Given the description of an element on the screen output the (x, y) to click on. 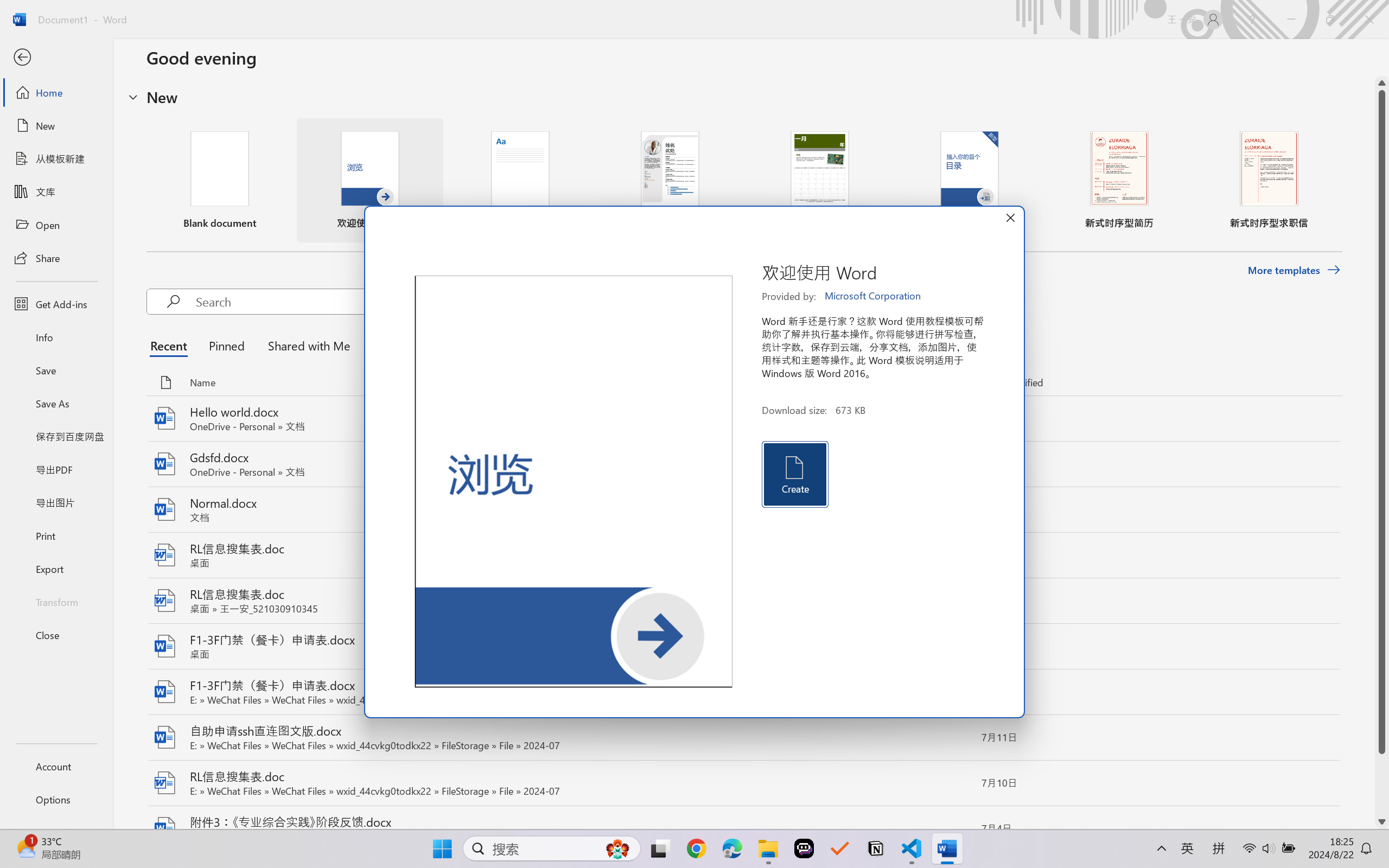
Get Add-ins (56, 303)
Google Chrome (696, 848)
Microsoft Edge (731, 848)
Pinned (226, 345)
Hide or show region (133, 96)
Line down (1382, 821)
